Given the description of an element on the screen output the (x, y) to click on. 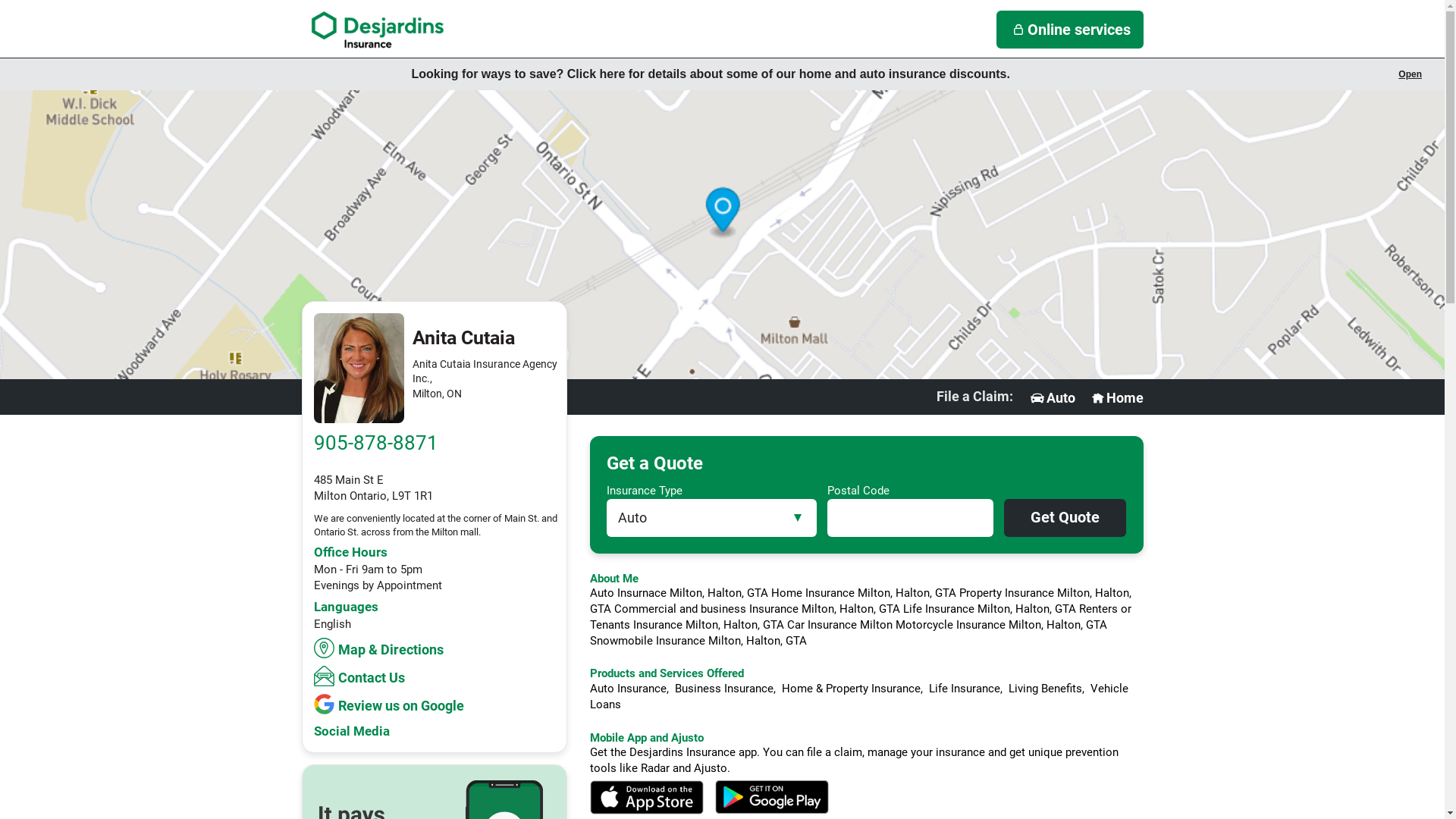
Home Element type: text (1115, 397)
Map & Directions Element type: text (380, 647)
Get Quote Element type: text (1065, 517)
Auto Element type: text (1051, 397)
905-878-8871 Element type: text (375, 442)
Navigate to Desjardins Insurance Element type: hover (377, 29)
Contact Us Element type: text (360, 675)
Open Element type: text (1409, 73)
Review us on Google Element type: text (390, 703)
Online services Element type: text (1069, 29)
